Given the description of an element on the screen output the (x, y) to click on. 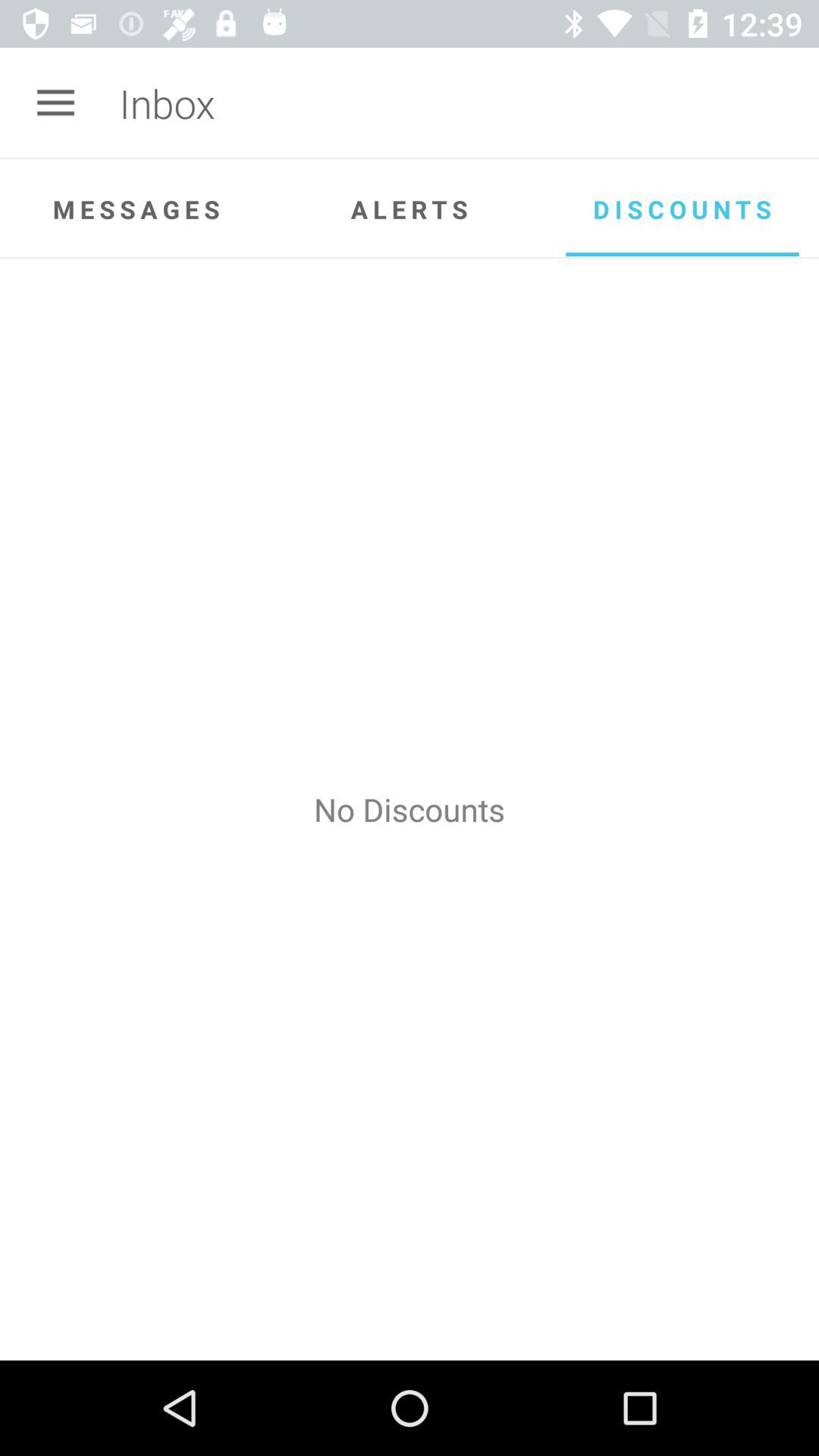
tap the app next to inbox icon (55, 103)
